Given the description of an element on the screen output the (x, y) to click on. 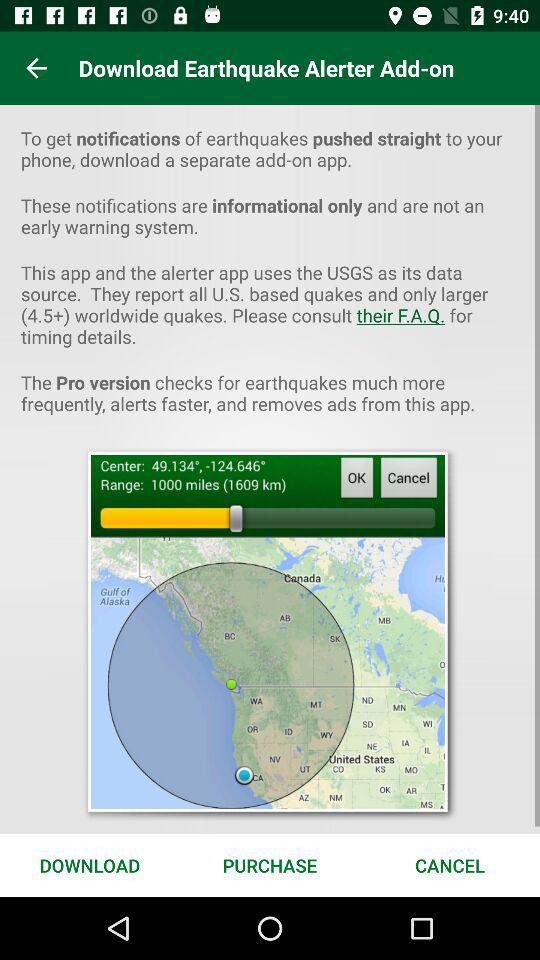
press the item above the to get notifications (36, 68)
